Given the description of an element on the screen output the (x, y) to click on. 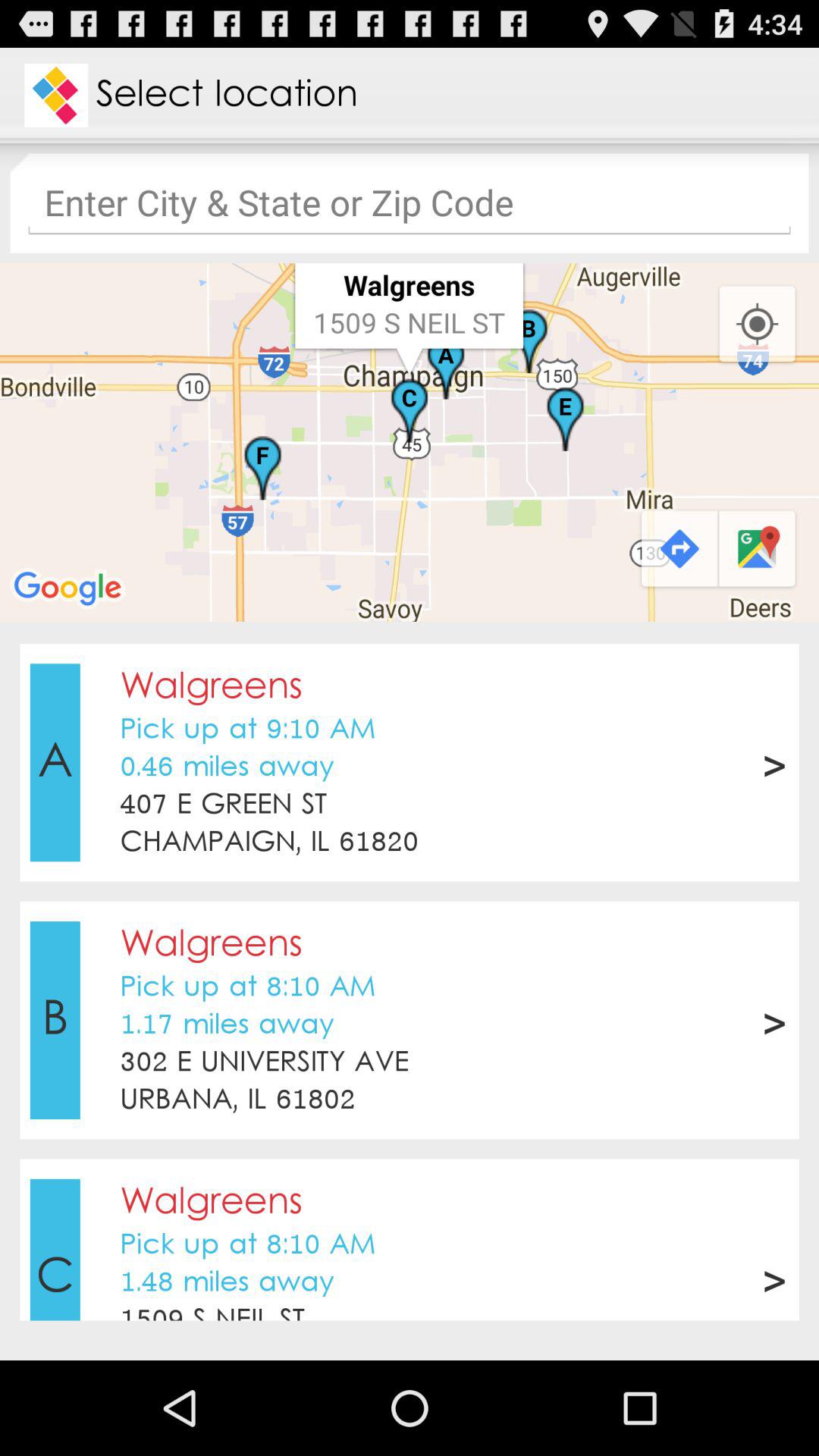
launch the item above walgreens icon (409, 871)
